Given the description of an element on the screen output the (x, y) to click on. 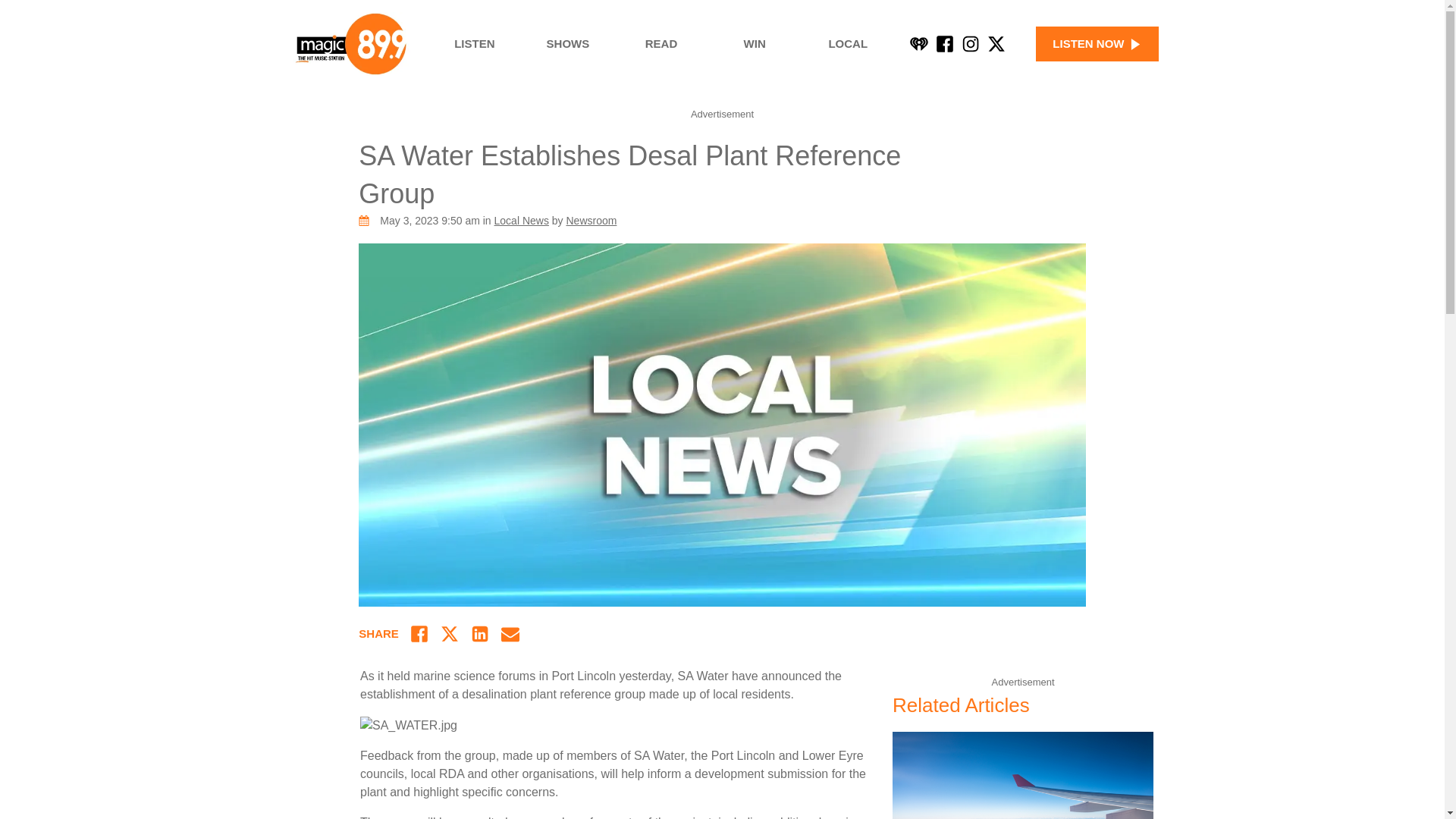
LISTEN NOW (1096, 44)
LISTEN (474, 43)
READ (660, 43)
Instagram (969, 44)
LOCAL (848, 43)
iHeart (919, 44)
Posts by Newsroom (590, 220)
WIN (754, 43)
Facebook (944, 44)
SHOWS (567, 43)
